Given the description of an element on the screen output the (x, y) to click on. 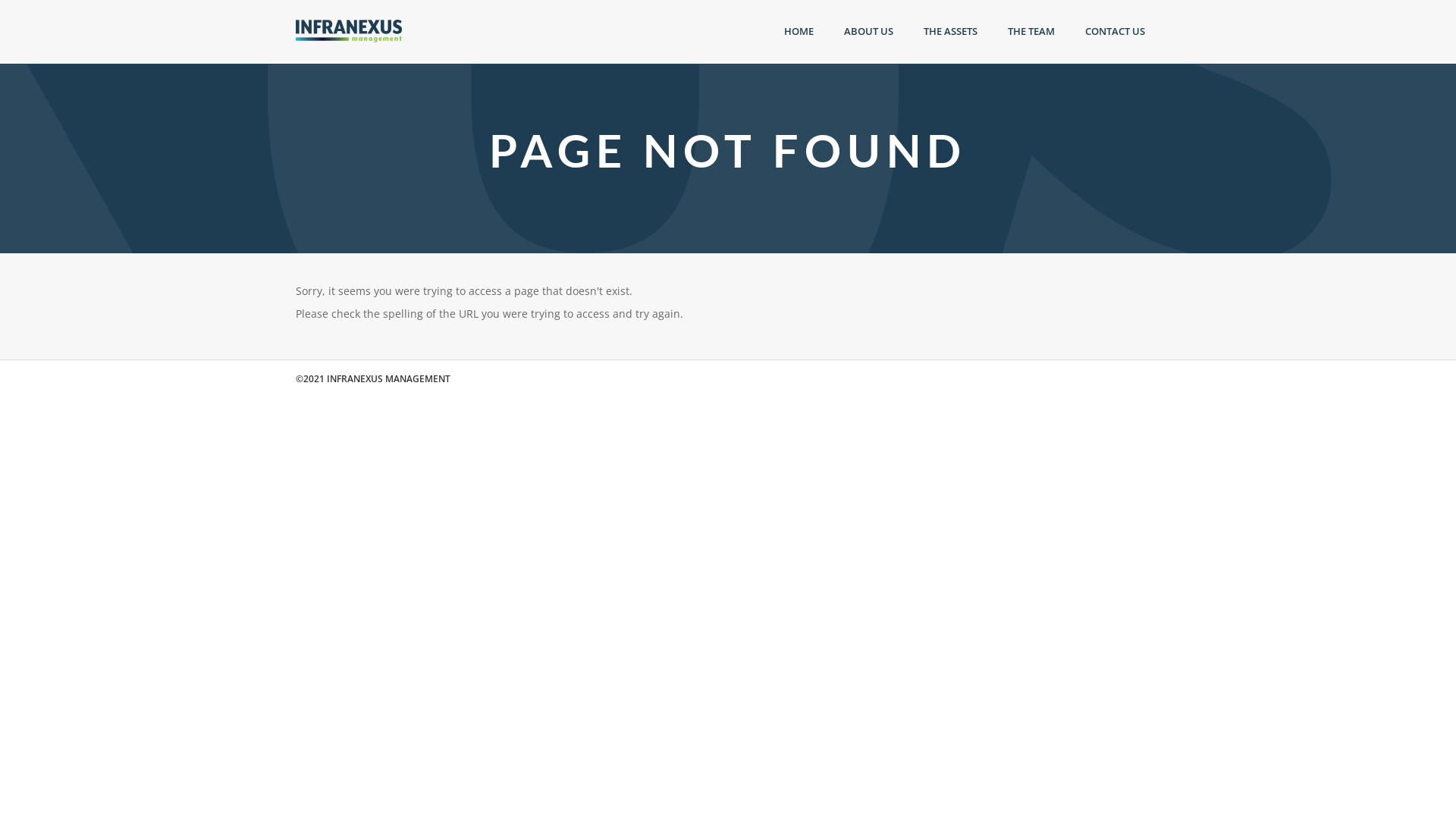
CONTACT US Element type: text (1115, 31)
ABOUT US Element type: text (868, 31)
THE TEAM Element type: text (1031, 31)
THE ASSETS Element type: text (950, 31)
HOME Element type: text (798, 31)
